Given the description of an element on the screen output the (x, y) to click on. 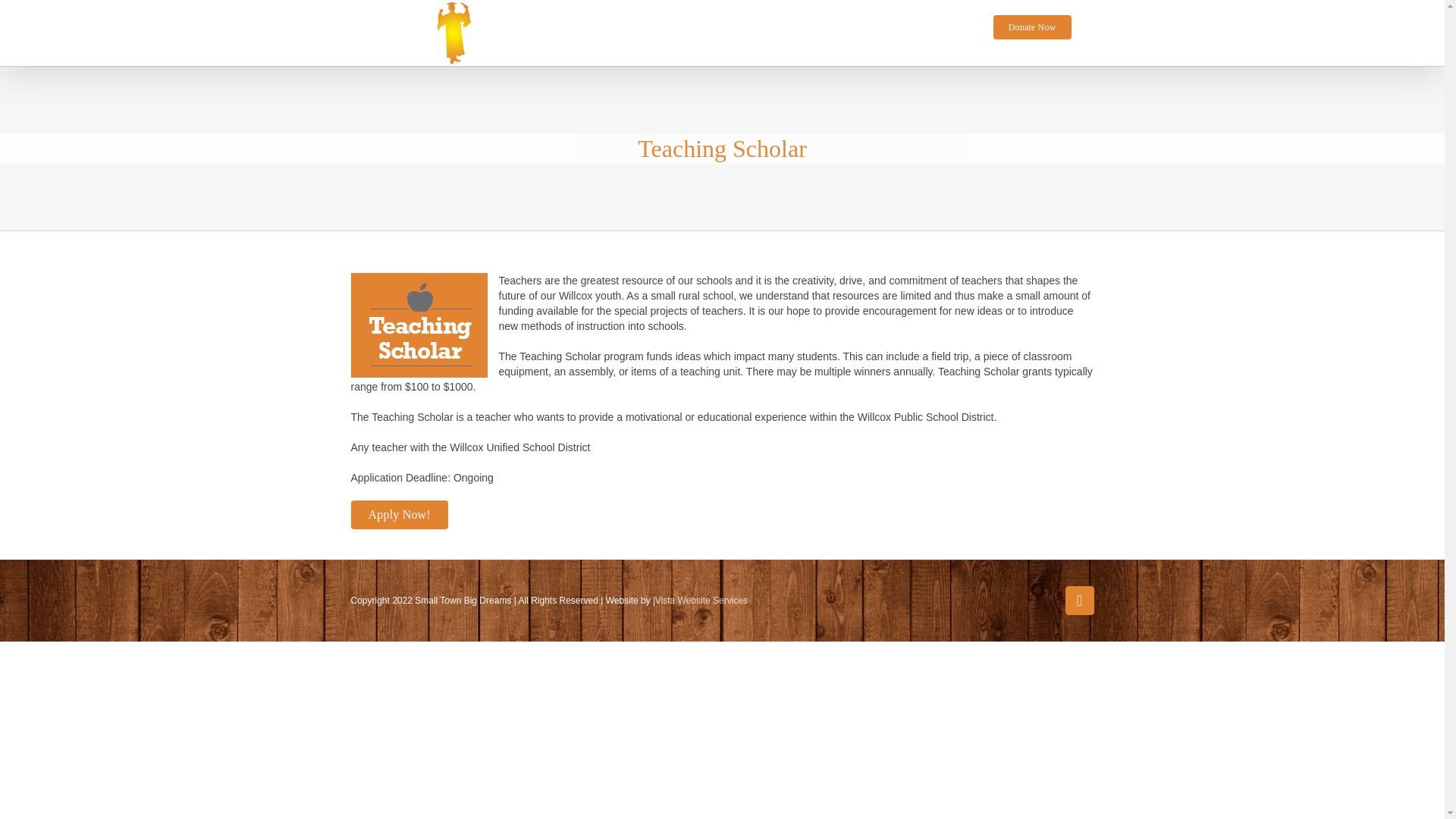
Facebook (1078, 600)
Apply Now! (721, 514)
Facebook (1078, 600)
jVista Website Services (700, 600)
Contact Us (940, 26)
Donate Now (1031, 26)
Apply Now! (398, 514)
Scholarship Levels (842, 26)
